Given the description of an element on the screen output the (x, y) to click on. 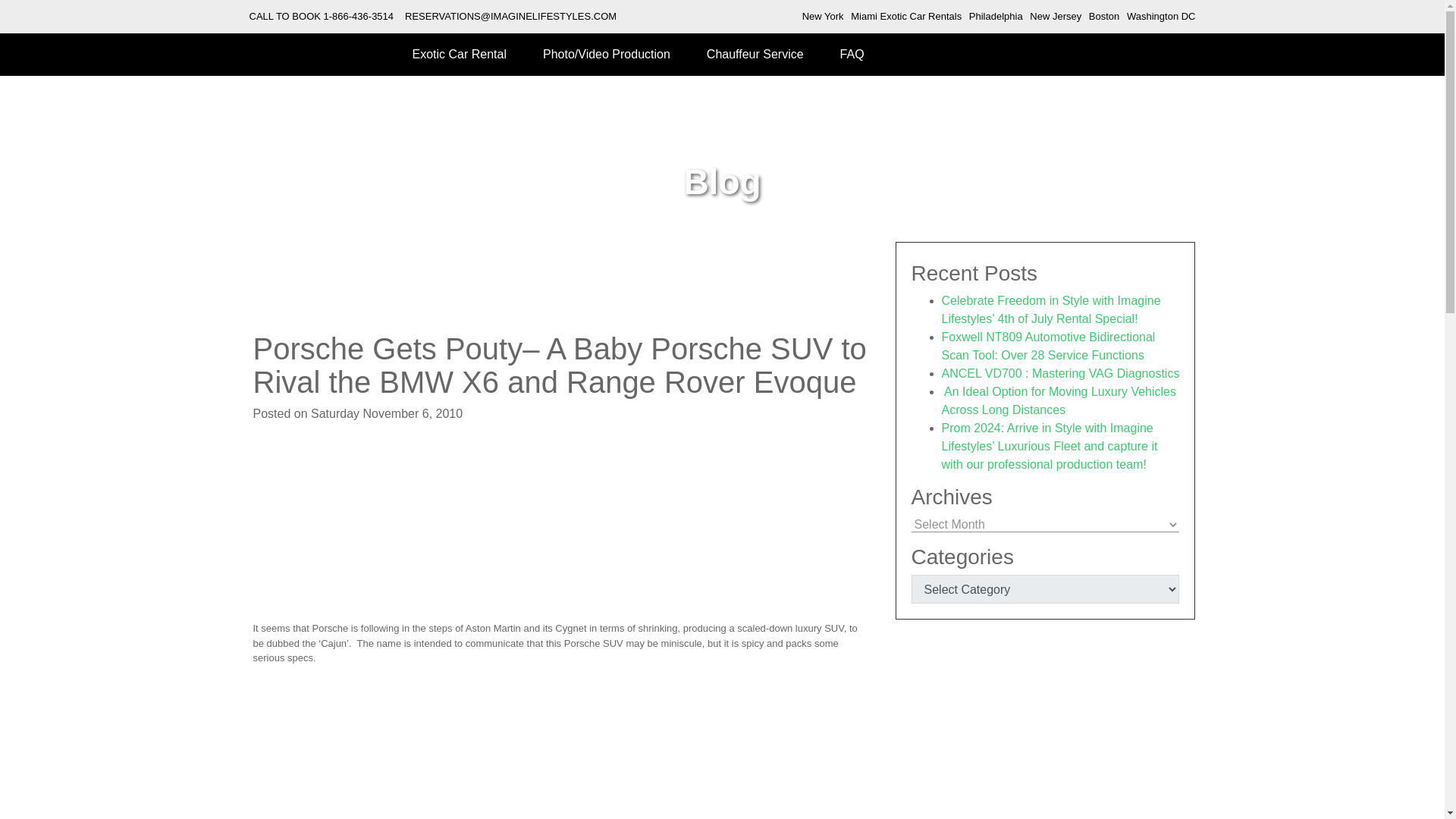
Boston (1104, 16)
New Jersey (1055, 16)
1-866-436-3514 (358, 16)
New York (823, 16)
Miami Exotic Car Rentals (905, 16)
New Jersey (1055, 16)
Chauffeur Service (755, 54)
Philadelphia (996, 16)
FAQ (852, 54)
Washington DC (1160, 16)
